Given the description of an element on the screen output the (x, y) to click on. 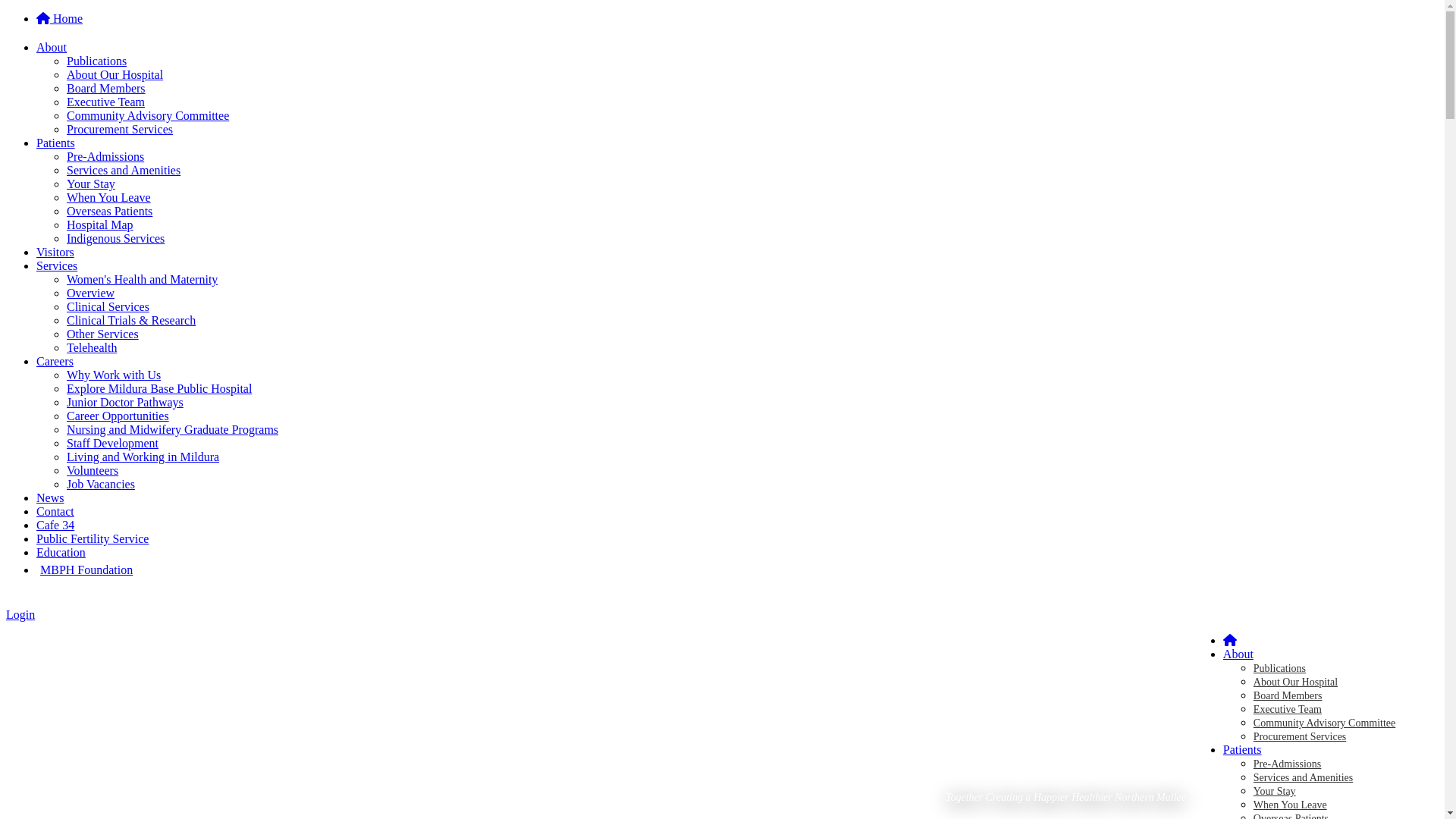
Home Element type: text (59, 18)
Overview Element type: text (90, 292)
Women's Health and Maternity Element type: text (141, 279)
Education Element type: text (60, 552)
Patients Element type: text (55, 142)
Patients Element type: text (1242, 749)
Why Work with Us Element type: text (113, 374)
When You Leave Element type: text (108, 197)
Explore Mildura Base Public Hospital Element type: text (158, 388)
Other Services Element type: text (102, 333)
Clinical Trials & Research Element type: text (130, 319)
Services Element type: text (56, 265)
Services and Amenities Element type: text (123, 169)
Procurement Services Element type: text (119, 128)
Services and Amenities Element type: text (1302, 777)
About Element type: text (51, 46)
MBPH Foundation Element type: text (86, 569)
Indigenous Services Element type: text (115, 238)
Visitors Element type: text (55, 251)
Your Stay Element type: text (1274, 791)
News Element type: text (49, 497)
Pre-Admissions Element type: text (105, 156)
Hospital Map Element type: text (99, 224)
Board Members Element type: text (1287, 695)
Clinical Services Element type: text (107, 306)
Pre-Admissions Element type: text (1287, 763)
Executive Team Element type: text (105, 101)
Job Vacancies Element type: text (100, 483)
Volunteers Element type: text (92, 470)
Junior Doctor Pathways Element type: text (124, 401)
About Our Hospital Element type: text (1295, 681)
Living and Working in Mildura Element type: text (142, 456)
Login Element type: text (20, 614)
Procurement Services Element type: text (1299, 736)
Community Advisory Committee Element type: text (147, 115)
About Element type: text (1238, 653)
Careers Element type: text (54, 360)
Community Advisory Committee Element type: text (1324, 722)
Staff Development Element type: text (112, 442)
About Our Hospital Element type: text (114, 74)
Public Fertility Service Element type: text (92, 538)
Overseas Patients Element type: text (109, 210)
Executive Team Element type: text (1287, 709)
Your Stay Element type: text (90, 183)
Board Members Element type: text (105, 87)
Telehealth Element type: text (91, 347)
Nursing and Midwifery Graduate Programs Element type: text (172, 429)
When You Leave Element type: text (1290, 804)
Contact Element type: text (55, 511)
Career Opportunities Element type: text (117, 415)
Publications Element type: text (96, 60)
Cafe 34 Element type: text (55, 524)
Publications Element type: text (1279, 668)
